Given the description of an element on the screen output the (x, y) to click on. 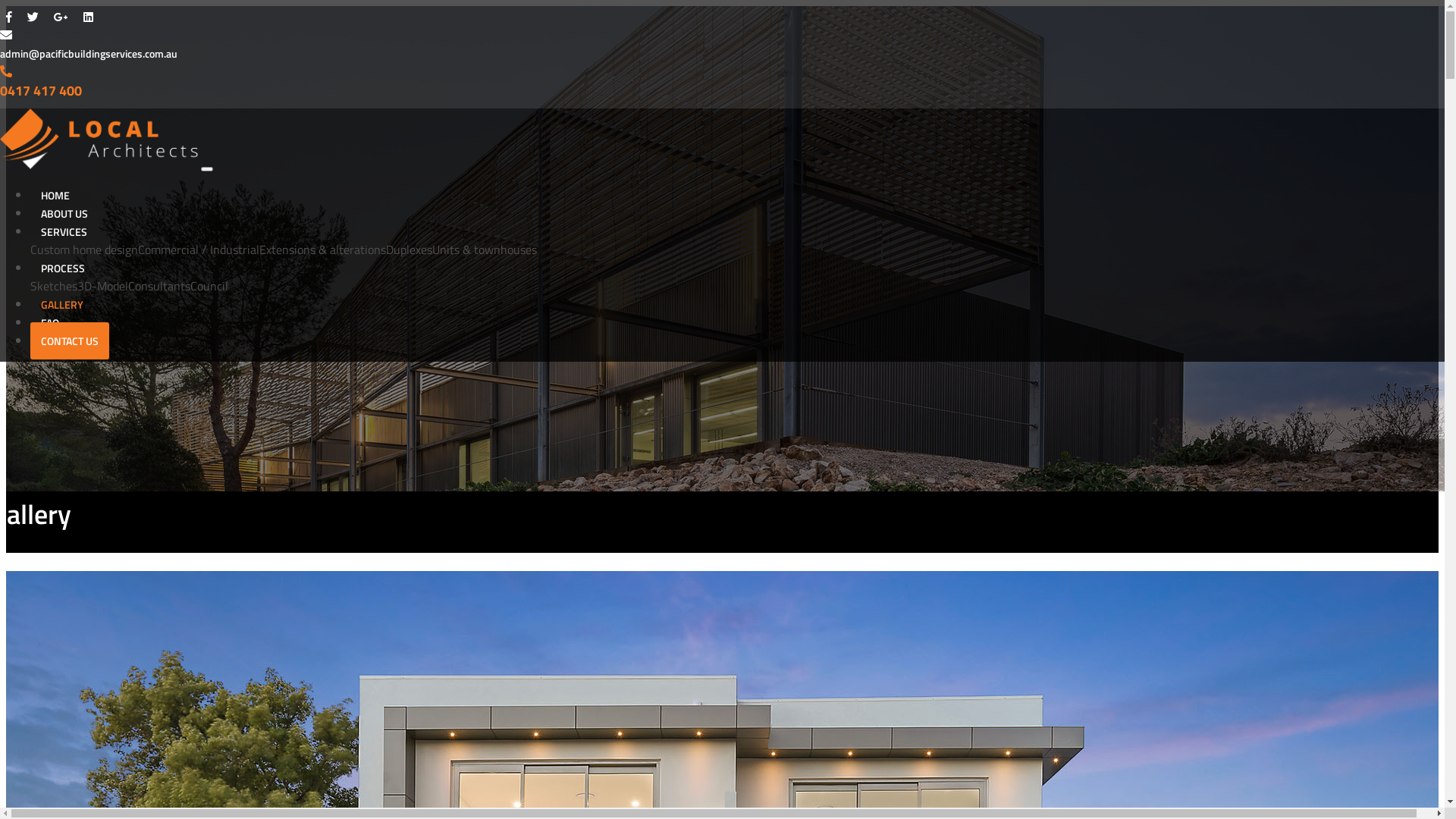
ABOUT US Element type: text (64, 213)
Consultants Element type: text (159, 285)
Duplexes Element type: text (408, 249)
Council Element type: text (209, 285)
admin@pacificbuildingservices.com.au Element type: text (88, 52)
HOME Element type: text (55, 194)
Commercial / Industrial Element type: text (198, 249)
3D-Model Element type: text (102, 285)
Extensions & alterations Element type: text (322, 249)
FAQ Element type: text (49, 322)
Custom home design Element type: text (84, 249)
Units & townhouses Element type: text (484, 249)
SERVICES Element type: text (63, 231)
0417 417 400 Element type: text (40, 90)
PROCESS Element type: text (62, 267)
CONTACT US Element type: text (69, 340)
GALLERY Element type: text (62, 304)
Sketches Element type: text (53, 285)
